Given the description of an element on the screen output the (x, y) to click on. 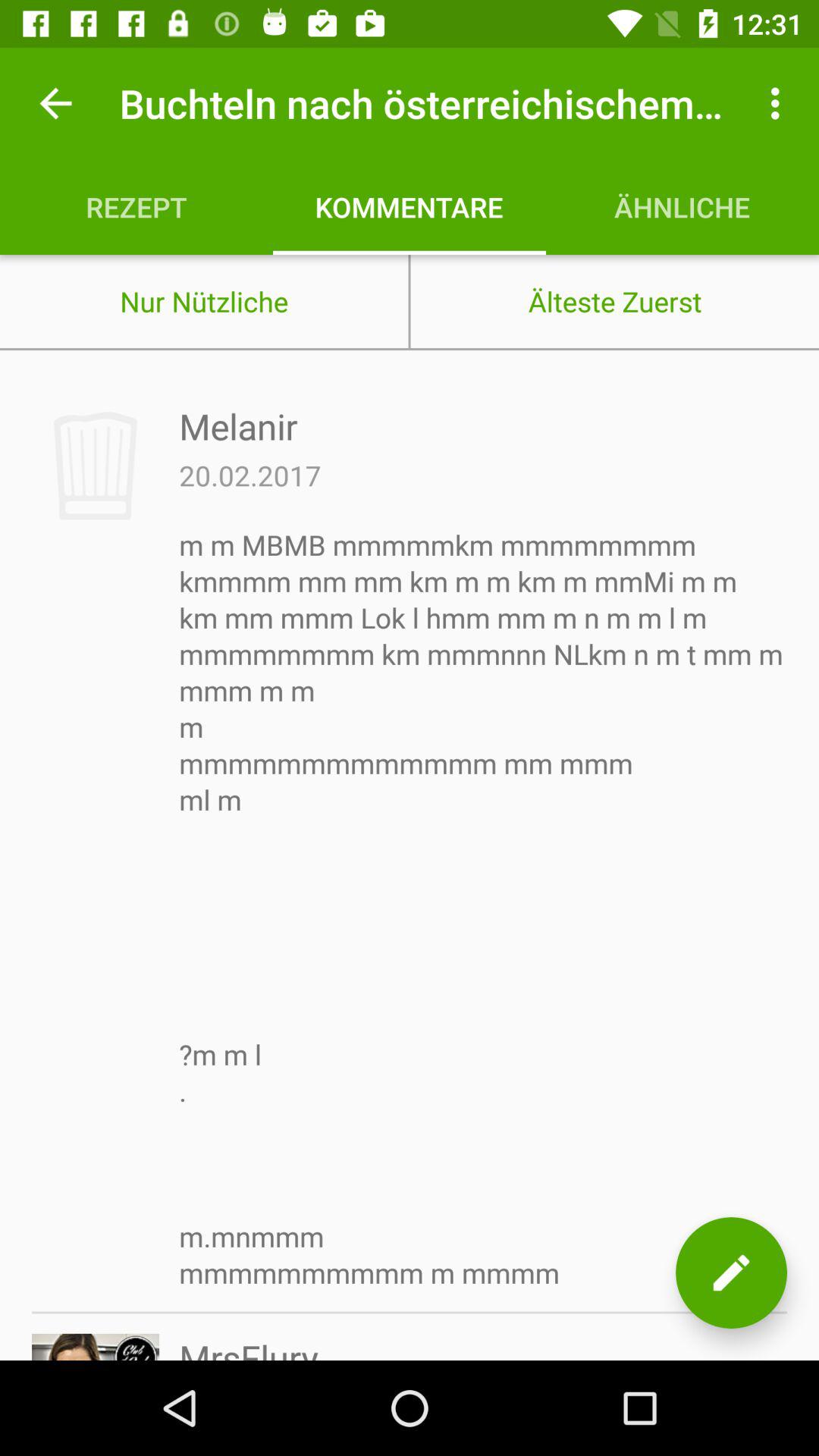
choose the m m mbmb (483, 908)
